Given the description of an element on the screen output the (x, y) to click on. 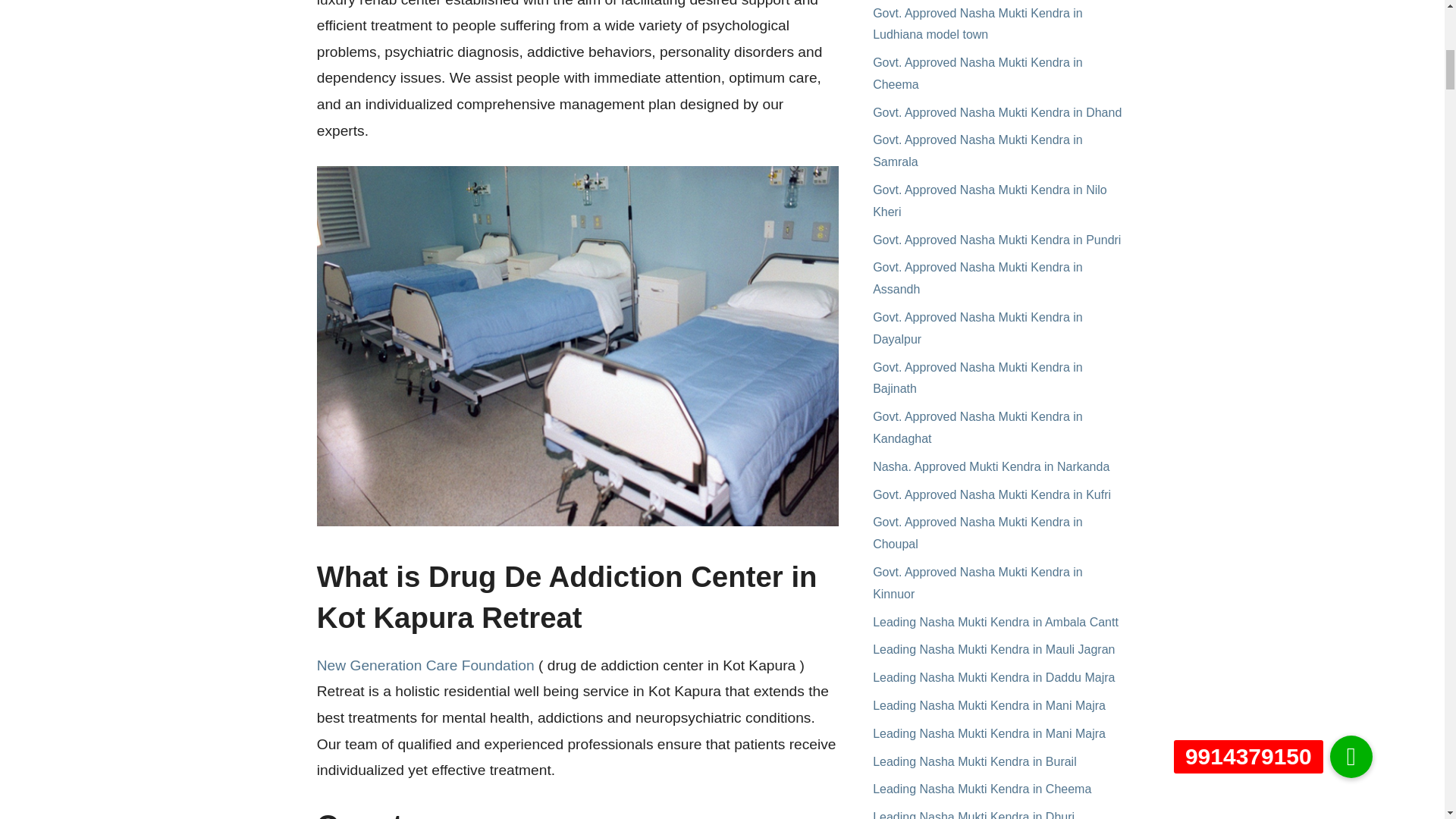
Govt. Approved Nasha Mukti Kendra in Choupal (977, 532)
Govt. Approved Nasha Mukti Kendra in Bajinath (977, 378)
Govt. Approved Nasha Mukti Kendra in Nilo Kheri (989, 200)
Nasha. Approved Mukti Kendra in Narkanda (990, 466)
Govt. Approved Nasha Mukti Kendra in Dayalpur (977, 328)
Leading Nasha Mukti Kendra in Ambala Cantt (995, 621)
Govt. Approved Nasha Mukti Kendra in Ludhiana model town (977, 22)
Govt. Approved Nasha Mukti Kendra in Cheema (977, 73)
Govt. Approved Nasha Mukti Kendra in Samrala (977, 150)
Govt. Approved Nasha Mukti Kendra in Kandaghat  (977, 427)
Govt. Approved Nasha Mukti Kendra in Assandh (977, 278)
New Generation Care Foundation (425, 665)
Govt. Approved Nasha Mukti Kendra in Dhand (996, 112)
Govt. Approved Nasha Mukti Kendra in Pundri (996, 239)
Govt. Approved Nasha Mukti Kendra in Kinnuor (977, 582)
